Given the description of an element on the screen output the (x, y) to click on. 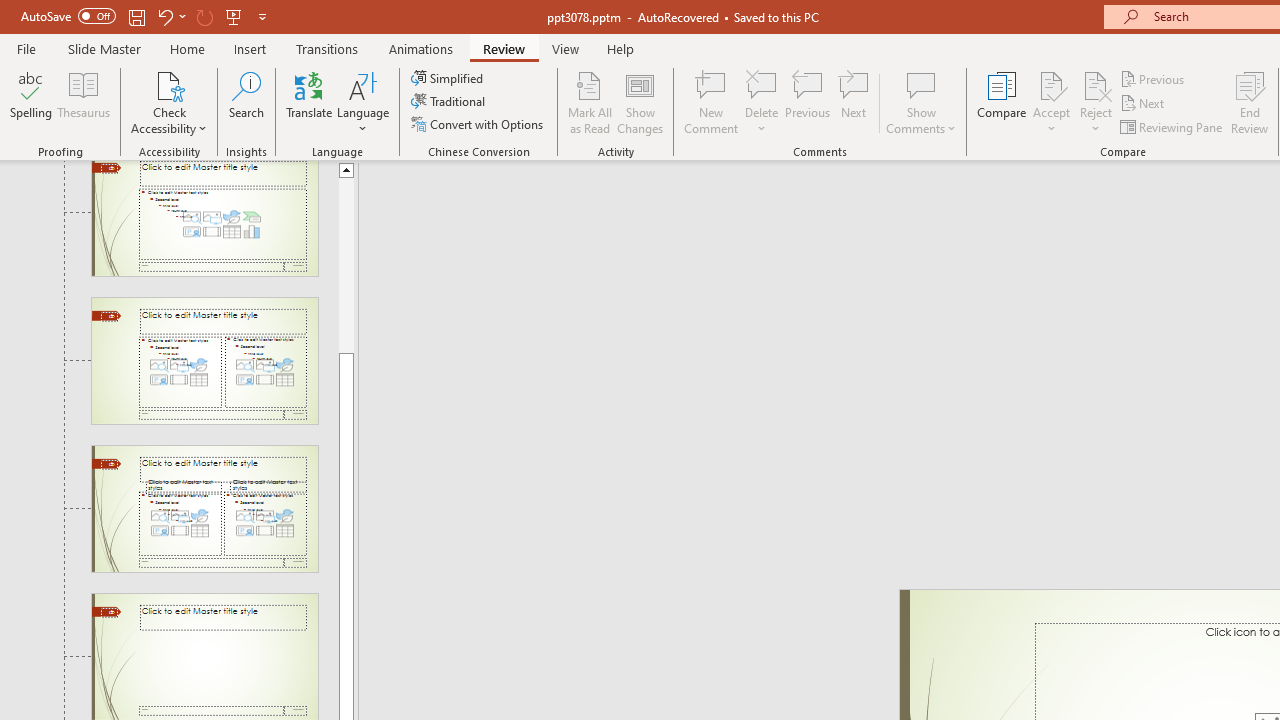
Traditional (449, 101)
